Given the description of an element on the screen output the (x, y) to click on. 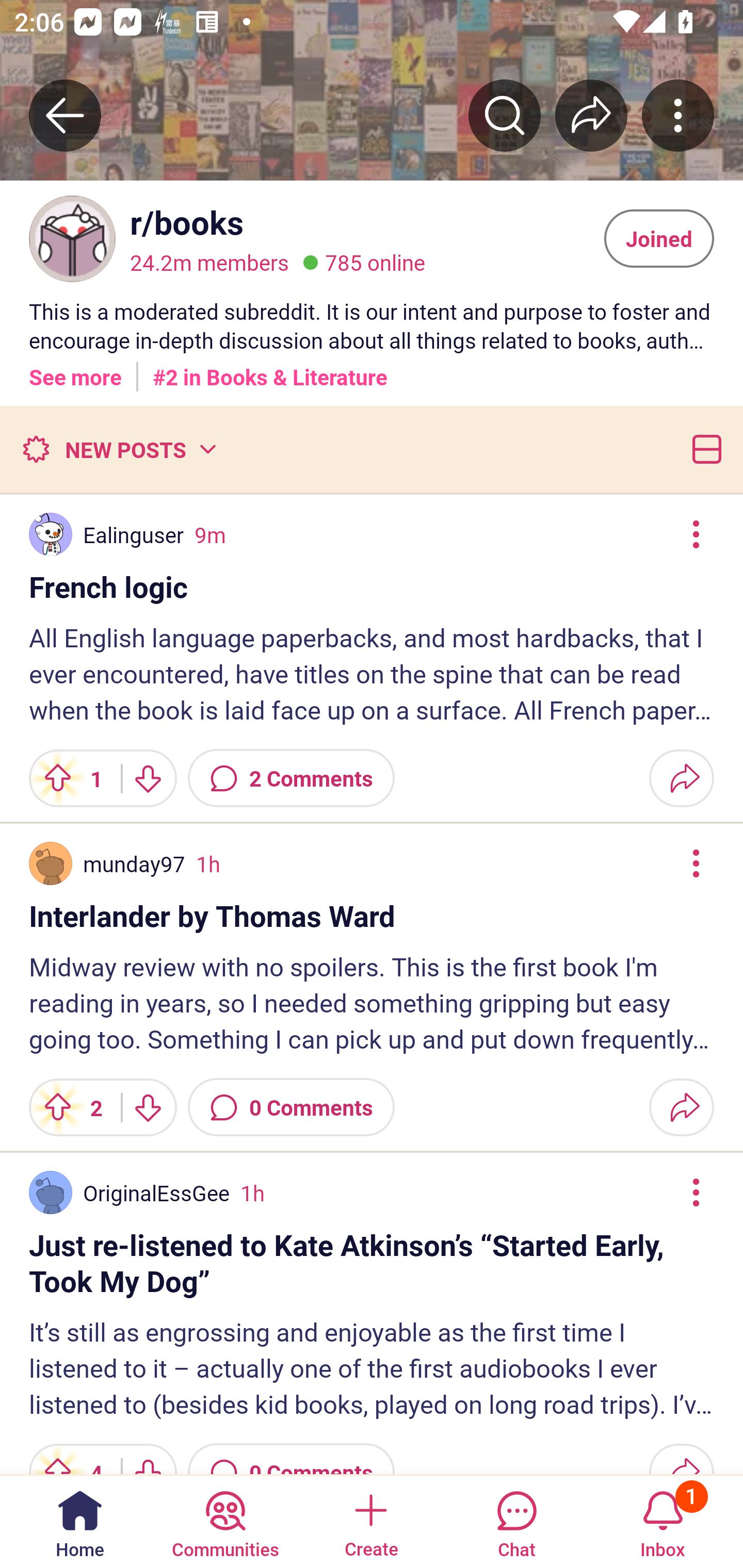
Back (64, 115)
Search r/﻿books (504, 115)
Share r/﻿books (591, 115)
More community actions (677, 115)
See more (74, 369)
#2 in Books & Literature (270, 369)
New posts NEW POSTS (118, 449)
Card (703, 449)
Home (80, 1520)
Communities (225, 1520)
Create a post Create (370, 1520)
Chat (516, 1520)
Inbox, has 1 notification 1 Inbox (662, 1520)
